Given the description of an element on the screen output the (x, y) to click on. 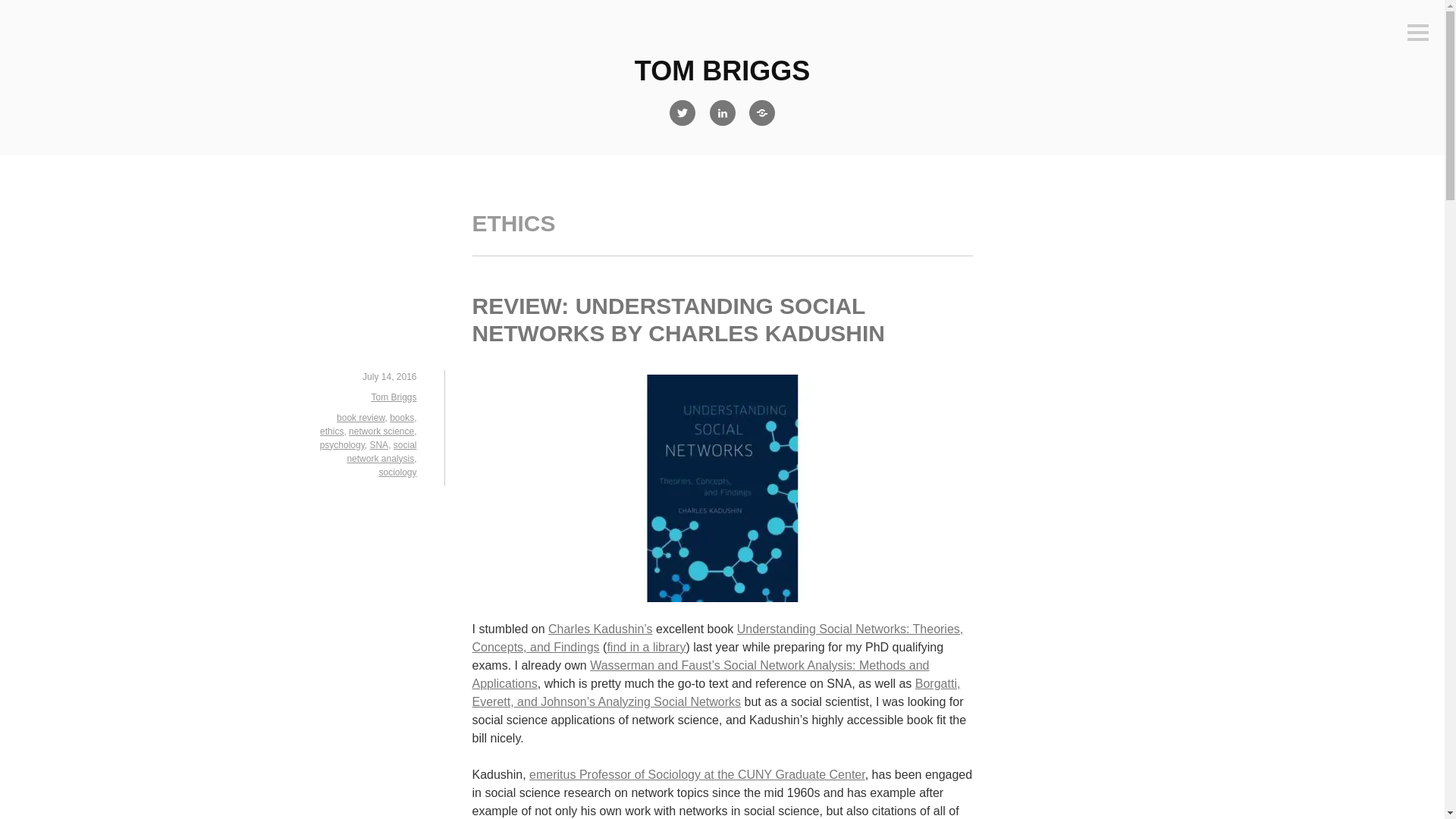
LinkedIn Profile (721, 112)
TOM BRIGGS (721, 70)
ResearchGate (762, 112)
Sidebar (1417, 33)
Twitter (681, 112)
Search (33, 12)
Sidebar (1417, 33)
